Given the description of an element on the screen output the (x, y) to click on. 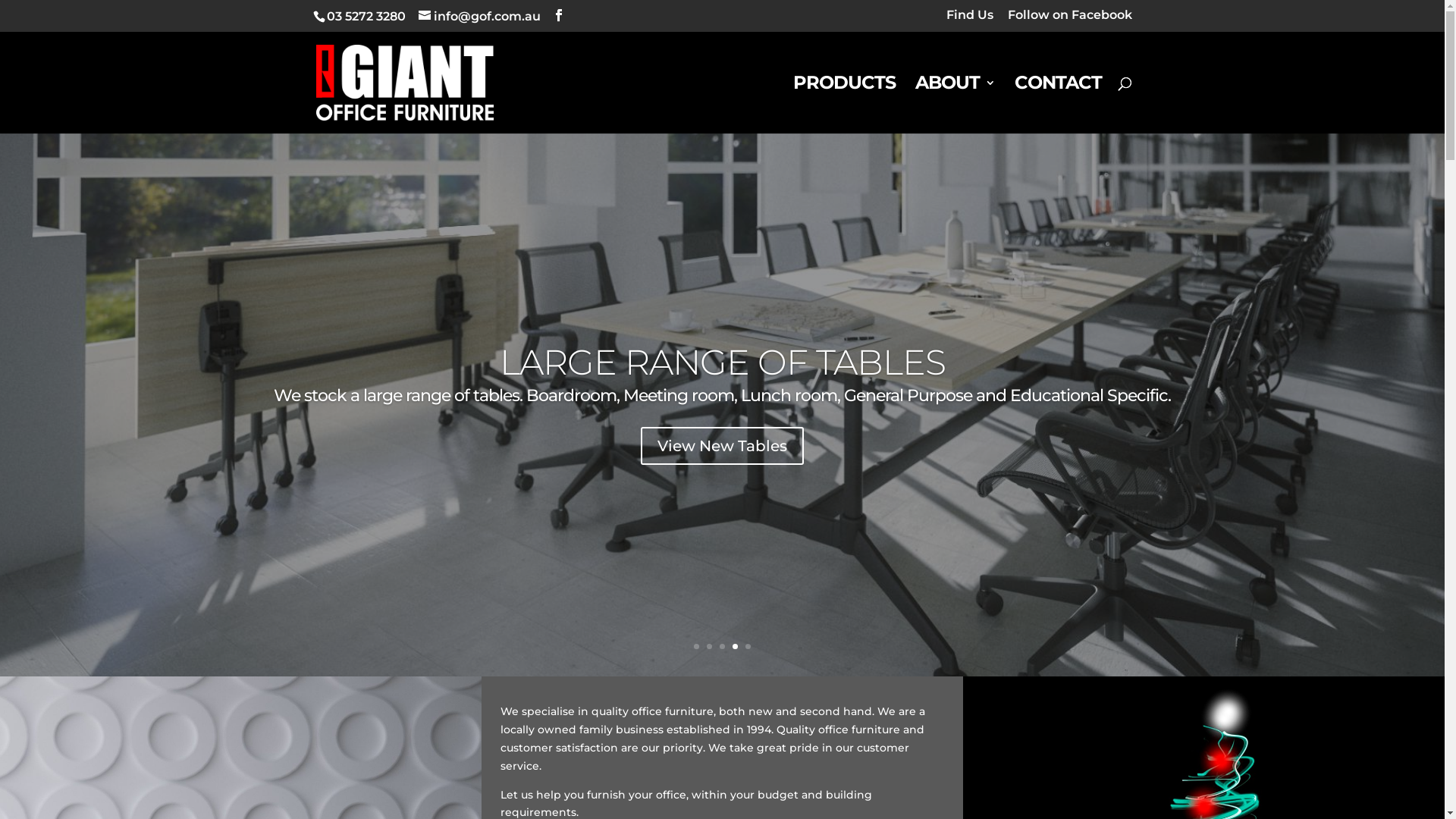
Modular Workstations Element type: text (722, 445)
QUALITY INSTALLATION BY PROFESSIONALS Element type: text (722, 361)
2 Element type: text (709, 646)
5 Element type: text (747, 646)
CONTACT Element type: text (1057, 105)
3 Element type: text (721, 646)
PRODUCTS Element type: text (844, 105)
Find Us Element type: text (969, 19)
info@gof.com.au Element type: text (479, 16)
ABOUT Element type: text (954, 105)
1 Element type: text (696, 646)
Follow on Facebook Element type: text (1069, 19)
4 Element type: text (734, 646)
